Given the description of an element on the screen output the (x, y) to click on. 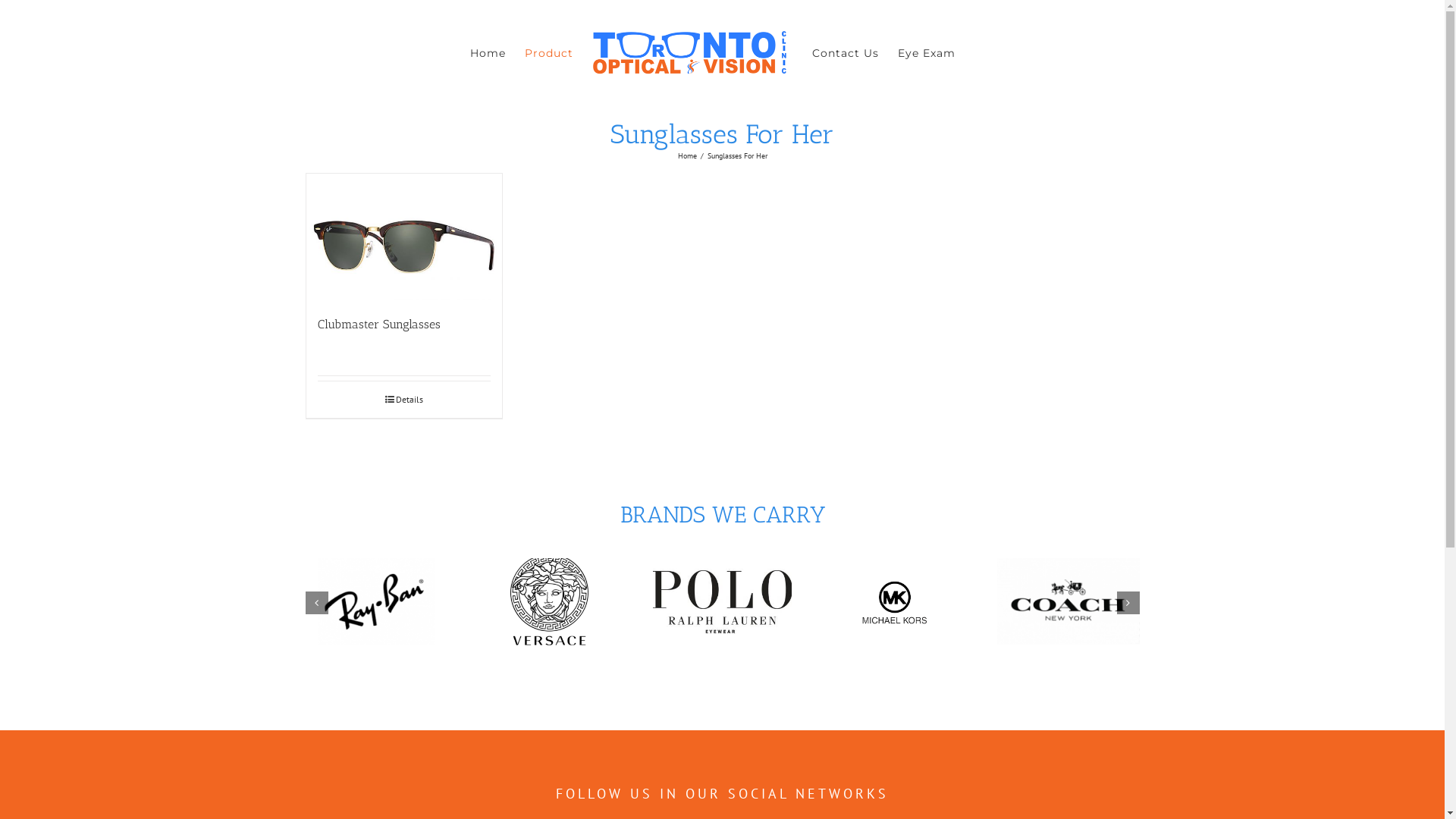
Product Element type: text (548, 52)
Details Element type: text (402, 399)
Home Element type: text (686, 155)
Home Element type: text (487, 52)
Clubmaster Sunglasses Element type: text (377, 323)
Eye Exam Element type: text (926, 52)
Contact Us Element type: text (845, 52)
